Given the description of an element on the screen output the (x, y) to click on. 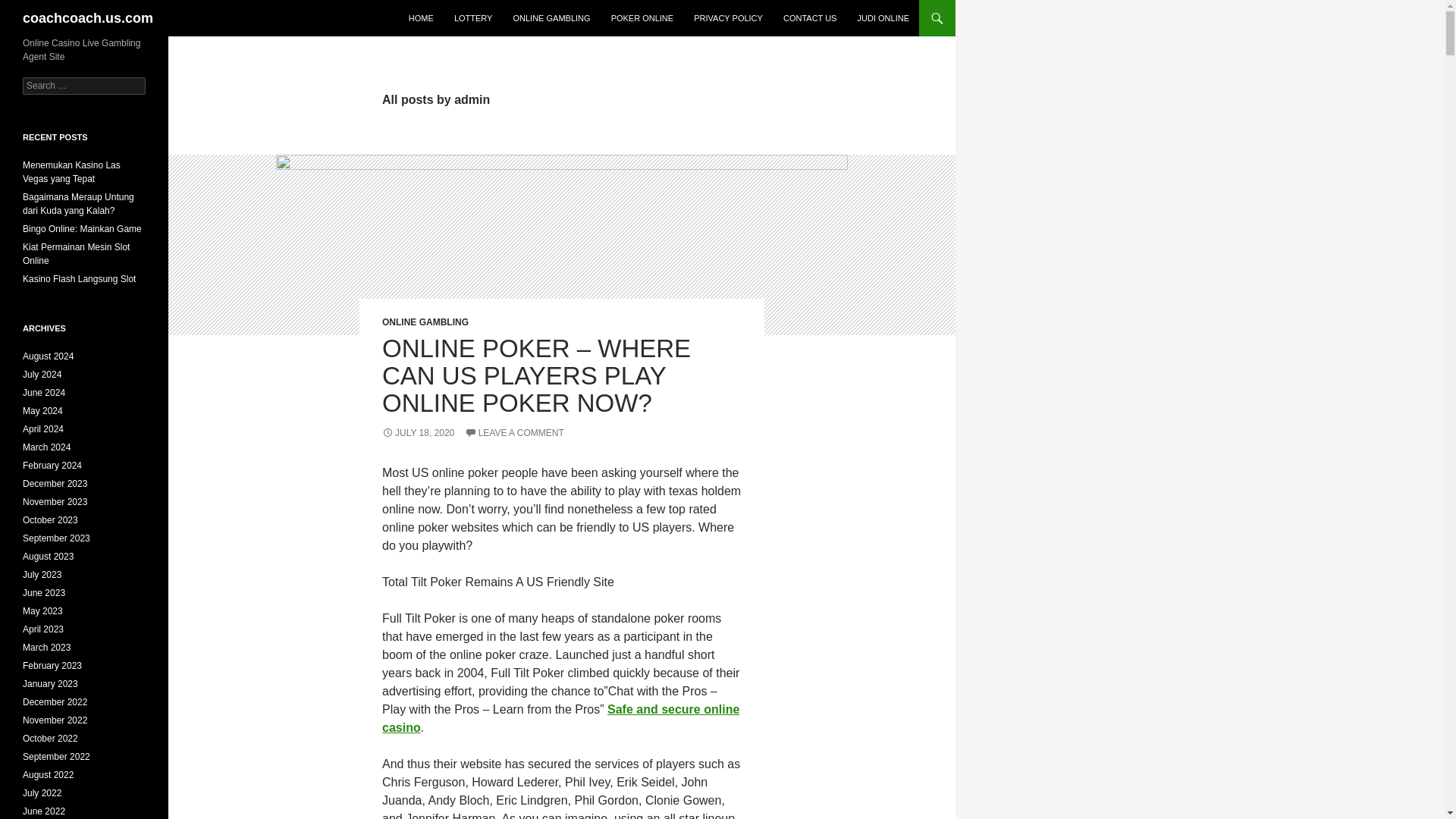
JULY 18, 2020 (417, 432)
ONLINE GAMBLING (424, 321)
LOTTERY (473, 18)
PRIVACY POLICY (727, 18)
Safe and secure online casino (560, 717)
CONTACT US (809, 18)
coachcoach.us.com (87, 18)
ONLINE GAMBLING (550, 18)
JUDI ONLINE (883, 18)
POKER ONLINE (642, 18)
HOME (420, 18)
LEAVE A COMMENT (514, 432)
